Given the description of an element on the screen output the (x, y) to click on. 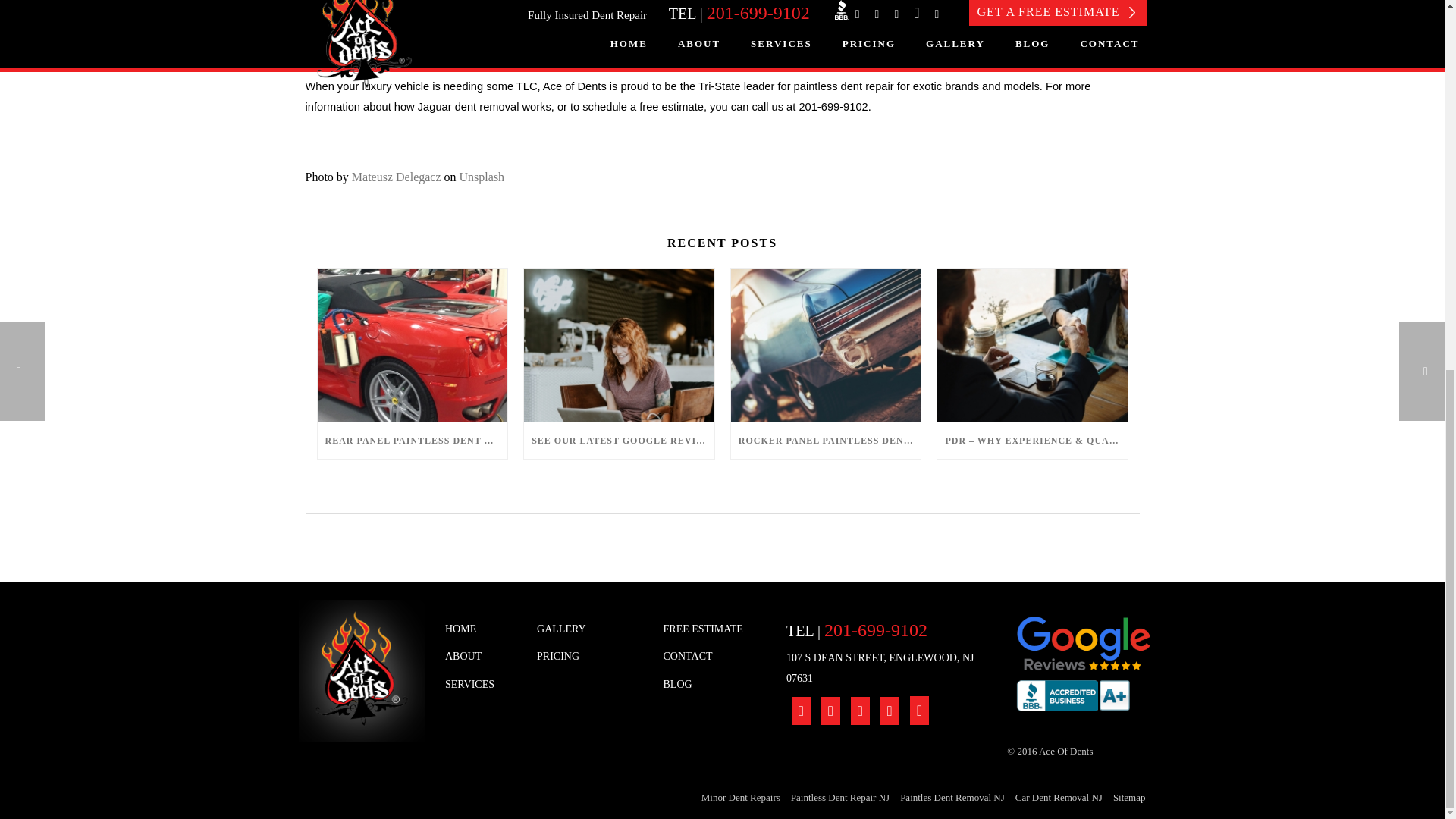
HOME (479, 629)
Mateusz Delegacz (396, 176)
See Our Latest Google Reviews for PDR (619, 345)
ABOUT (479, 656)
Rocker Panel Paintless Dent Repair (825, 345)
Rear Panel Paintless Dent Repair (411, 345)
SEE OUR LATEST GOOGLE REVIEWS FOR PDR (619, 440)
ROCKER PANEL PAINTLESS DENT REPAIR (825, 440)
Unsplash (482, 176)
REAR PANEL PAINTLESS DENT REPAIR (411, 440)
